Given the description of an element on the screen output the (x, y) to click on. 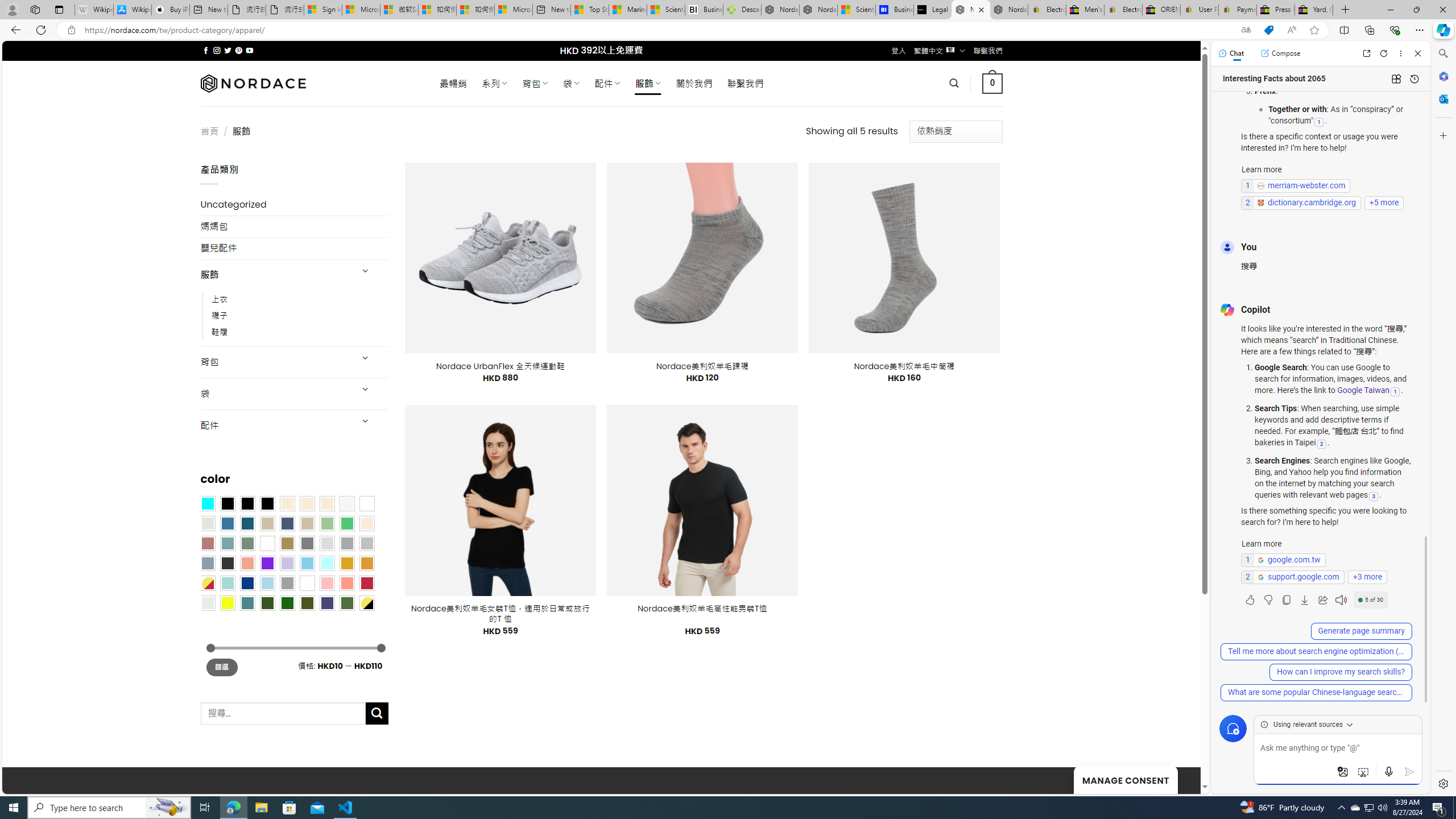
Follow on Pinterest (237, 50)
Uncategorized (294, 204)
